Given the description of an element on the screen output the (x, y) to click on. 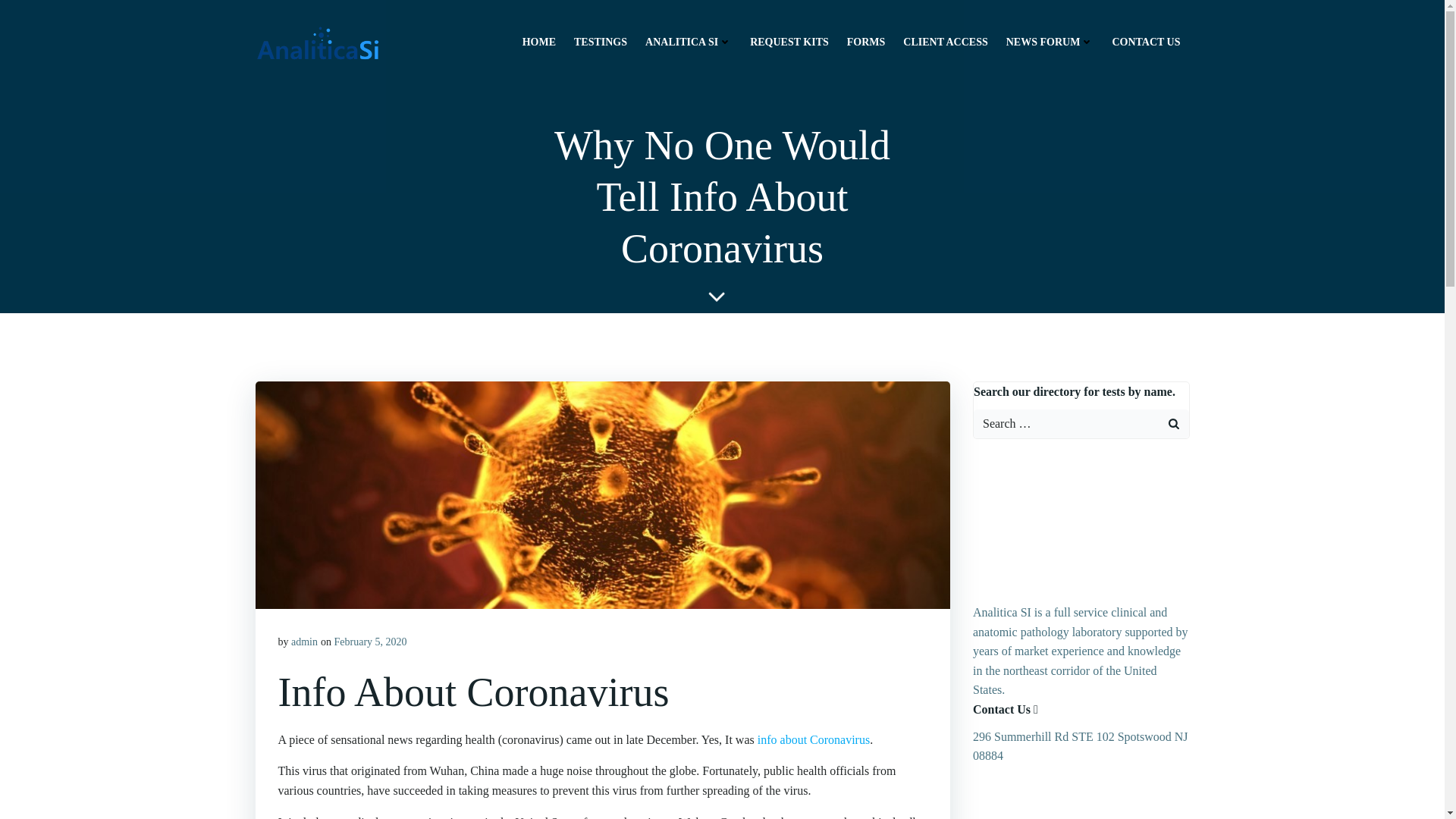
TESTINGS (600, 41)
February 5, 2020 (369, 641)
CONTACT US (1145, 41)
CLIENT ACCESS (944, 41)
info about Coronavirus (813, 739)
REQUEST KITS (788, 41)
ANALITICA SI (688, 41)
admin (304, 641)
NEWS FORUM (1050, 41)
